Given the description of an element on the screen output the (x, y) to click on. 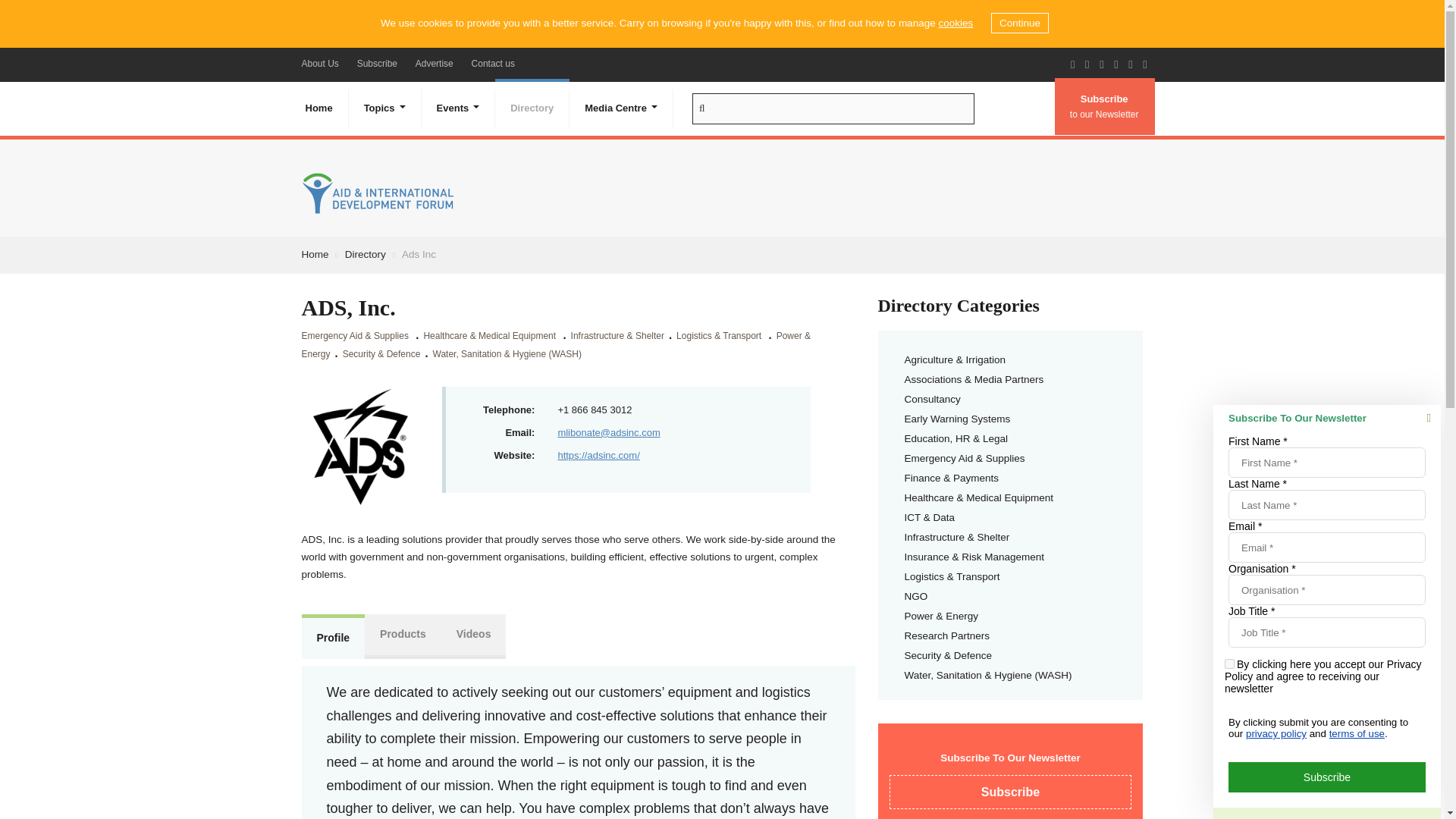
About Us (320, 63)
Subscribe (376, 63)
cookies (954, 22)
Contact us (493, 63)
Advertise (434, 63)
Topics... (385, 108)
Home (318, 108)
